Given the description of an element on the screen output the (x, y) to click on. 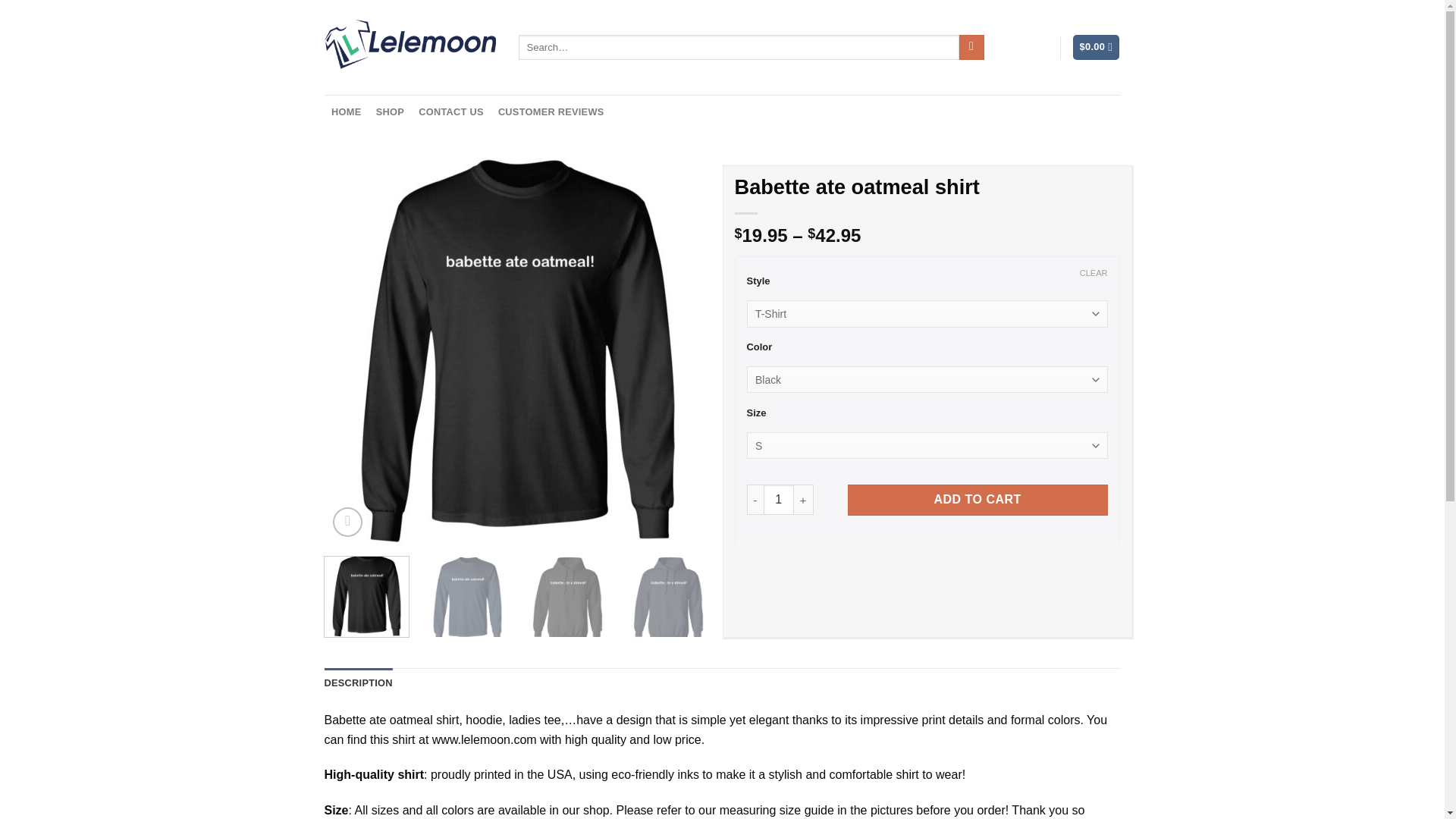
Babette ate oatmeal shirt (869, 598)
HOME (346, 111)
1 (777, 499)
Babette ate oatmeal shirt (768, 598)
Zoom (347, 521)
Babette ate oatmeal shirt (567, 598)
Cart (1096, 47)
Babette ate oatmeal shirt (969, 598)
Babette ate oatmeal shirt (668, 598)
Search (971, 47)
Lelemoon - Lelemoon (410, 47)
CLEAR (1094, 272)
SHOP (389, 111)
